Given the description of an element on the screen output the (x, y) to click on. 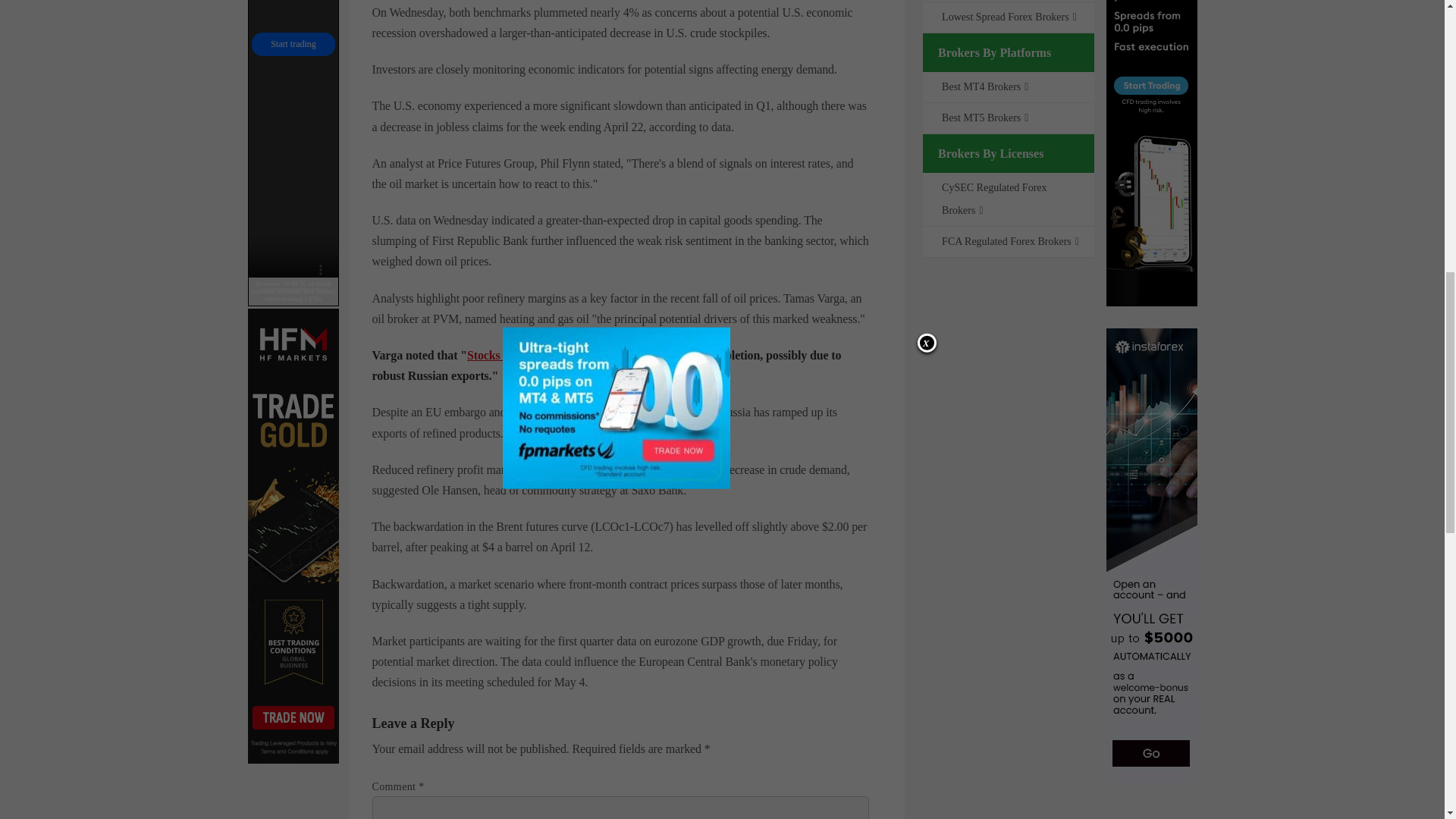
Stocks (485, 354)
advertisement (292, 153)
